Given the description of an element on the screen output the (x, y) to click on. 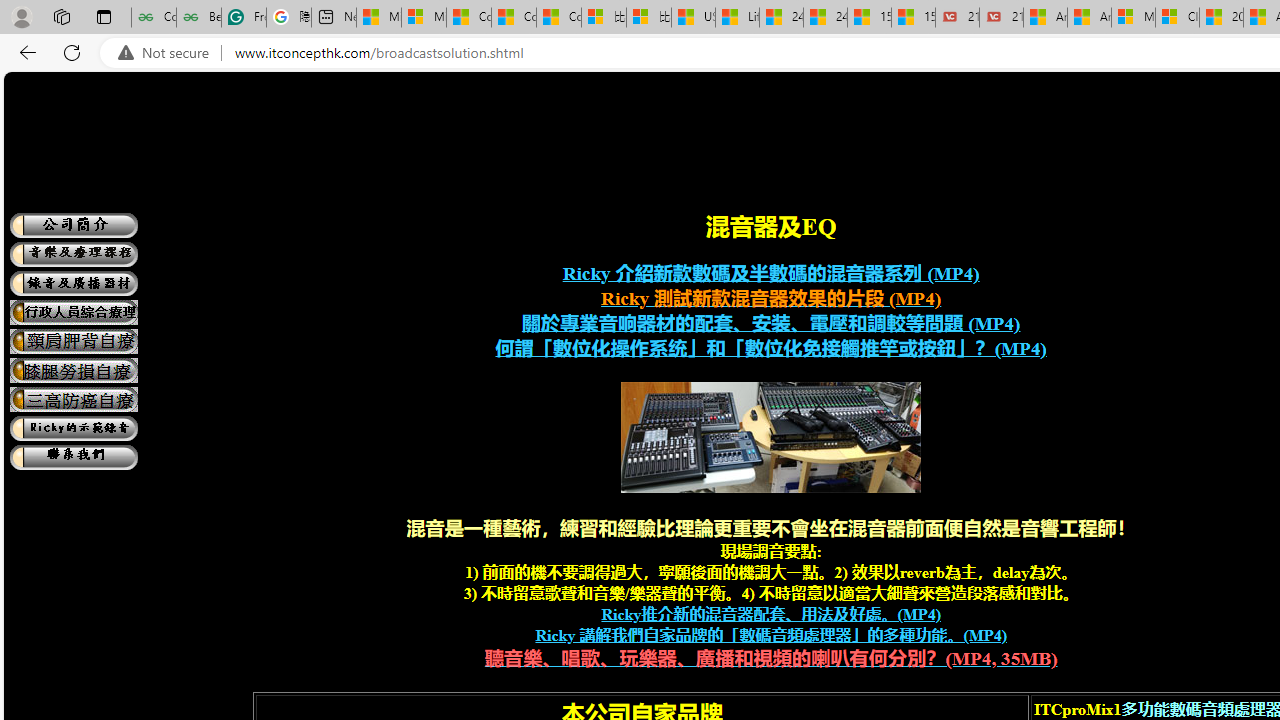
Microsoft Services Agreement (1133, 17)
Free AI Writing Assistance for Students | Grammarly (243, 17)
21 Movies That Outdid the Books They Were Based On (1001, 17)
Not secure (168, 53)
20 Ways to Boost Your Protein Intake at Every Meal (1220, 17)
USA TODAY - MSN (693, 17)
